Given the description of an element on the screen output the (x, y) to click on. 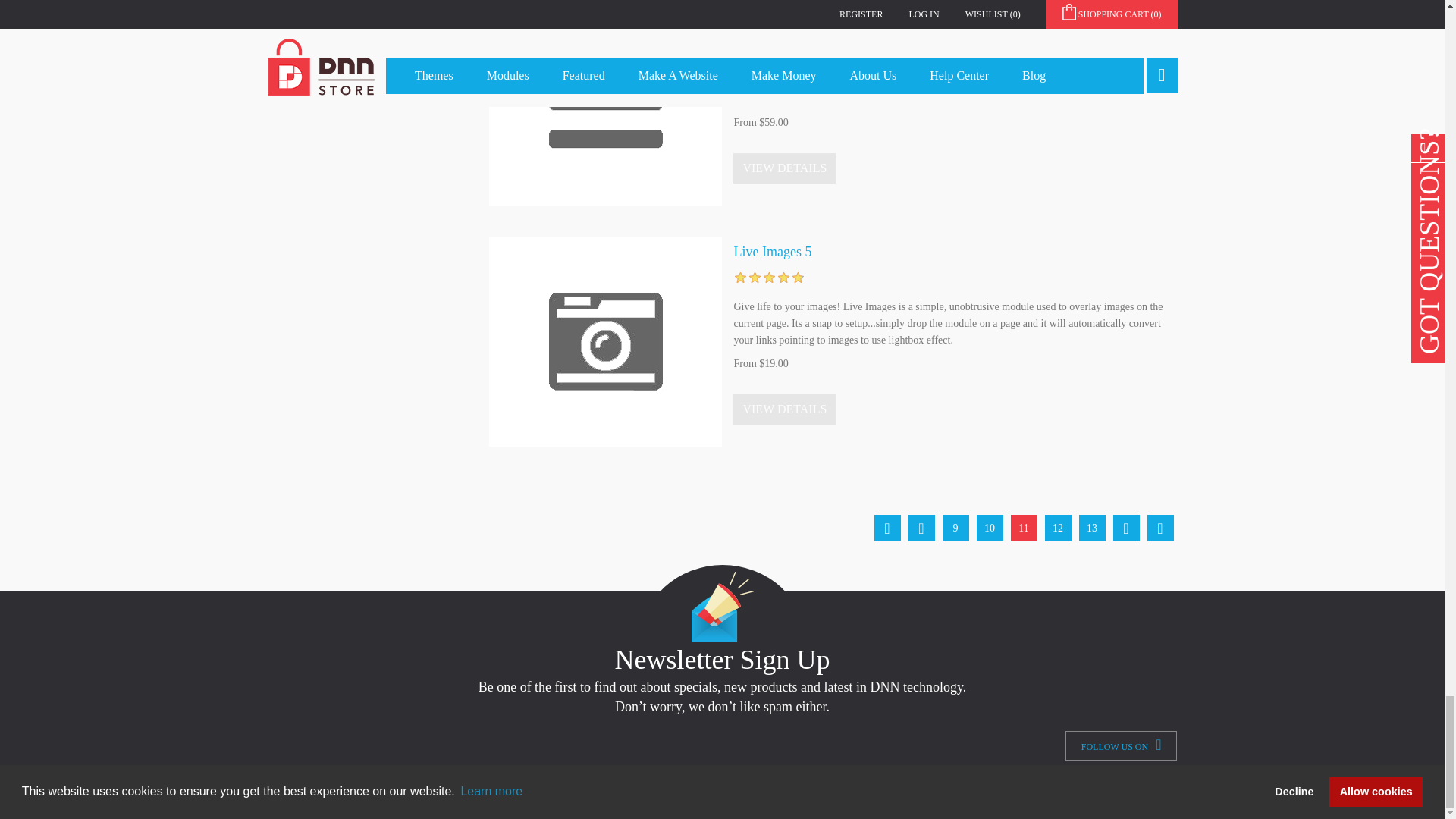
View Details (784, 168)
